Given the description of an element on the screen output the (x, y) to click on. 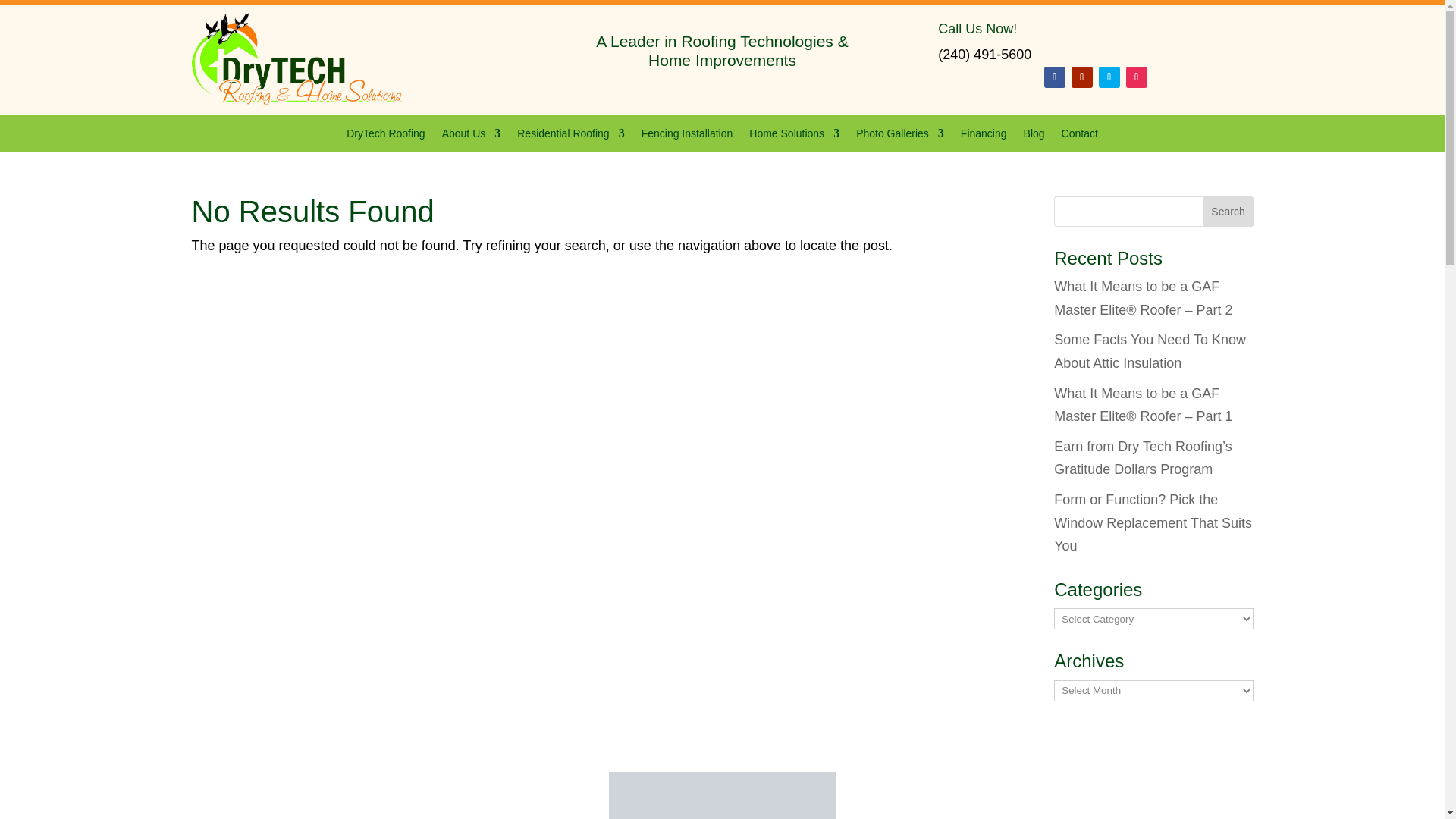
Blog (1034, 135)
Contact (1079, 135)
Financing (983, 135)
Home Solutions (794, 135)
Form or Function? Pick the Window Replacement That Suits You (1153, 522)
Follow on Youtube (1082, 76)
DryTechLogo-Short (295, 60)
Follow on X (1109, 76)
DryTech Roofing (385, 135)
Follow on Instagram (1136, 76)
